Given the description of an element on the screen output the (x, y) to click on. 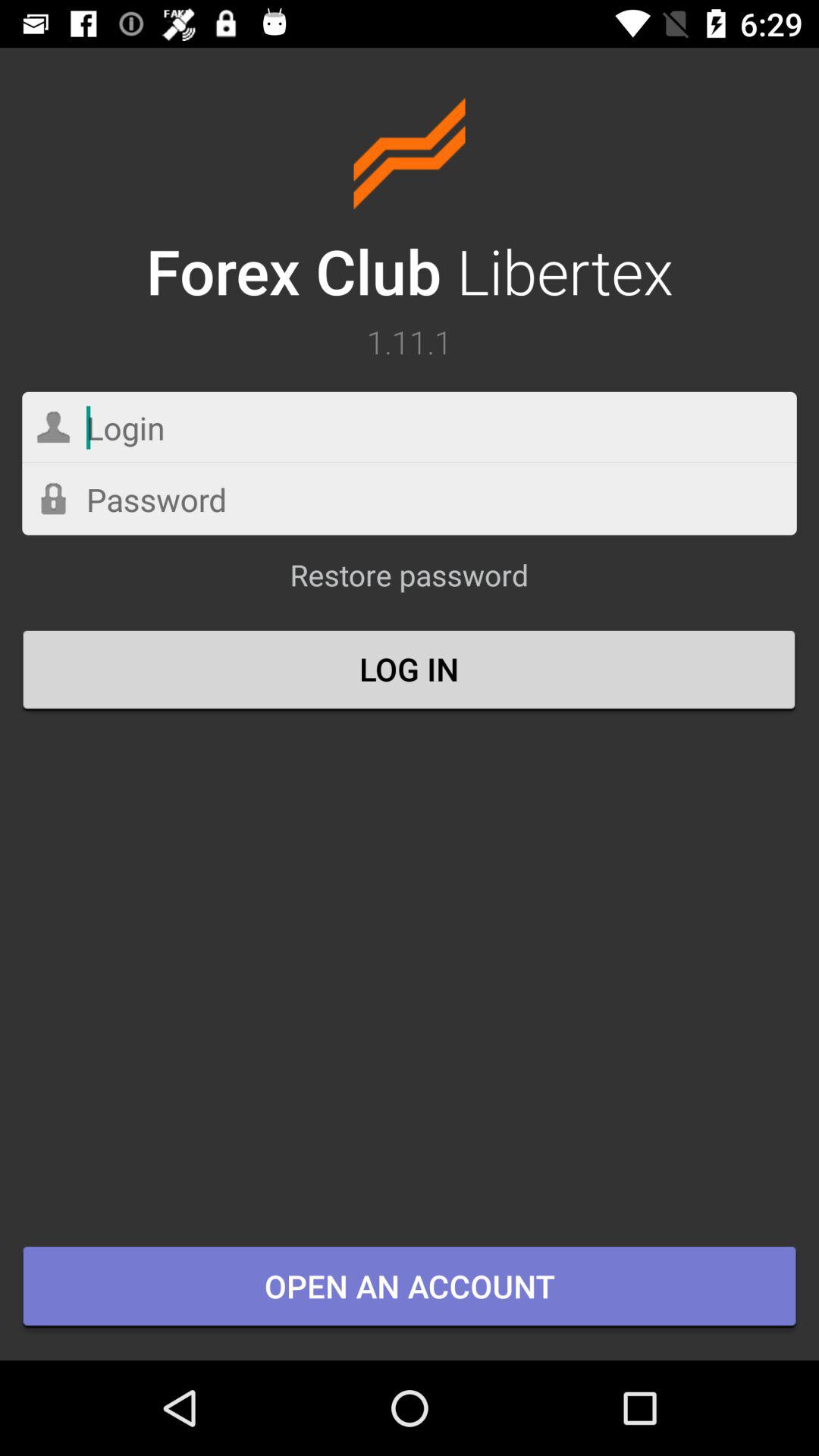
press item below the log in icon (409, 1287)
